Given the description of an element on the screen output the (x, y) to click on. 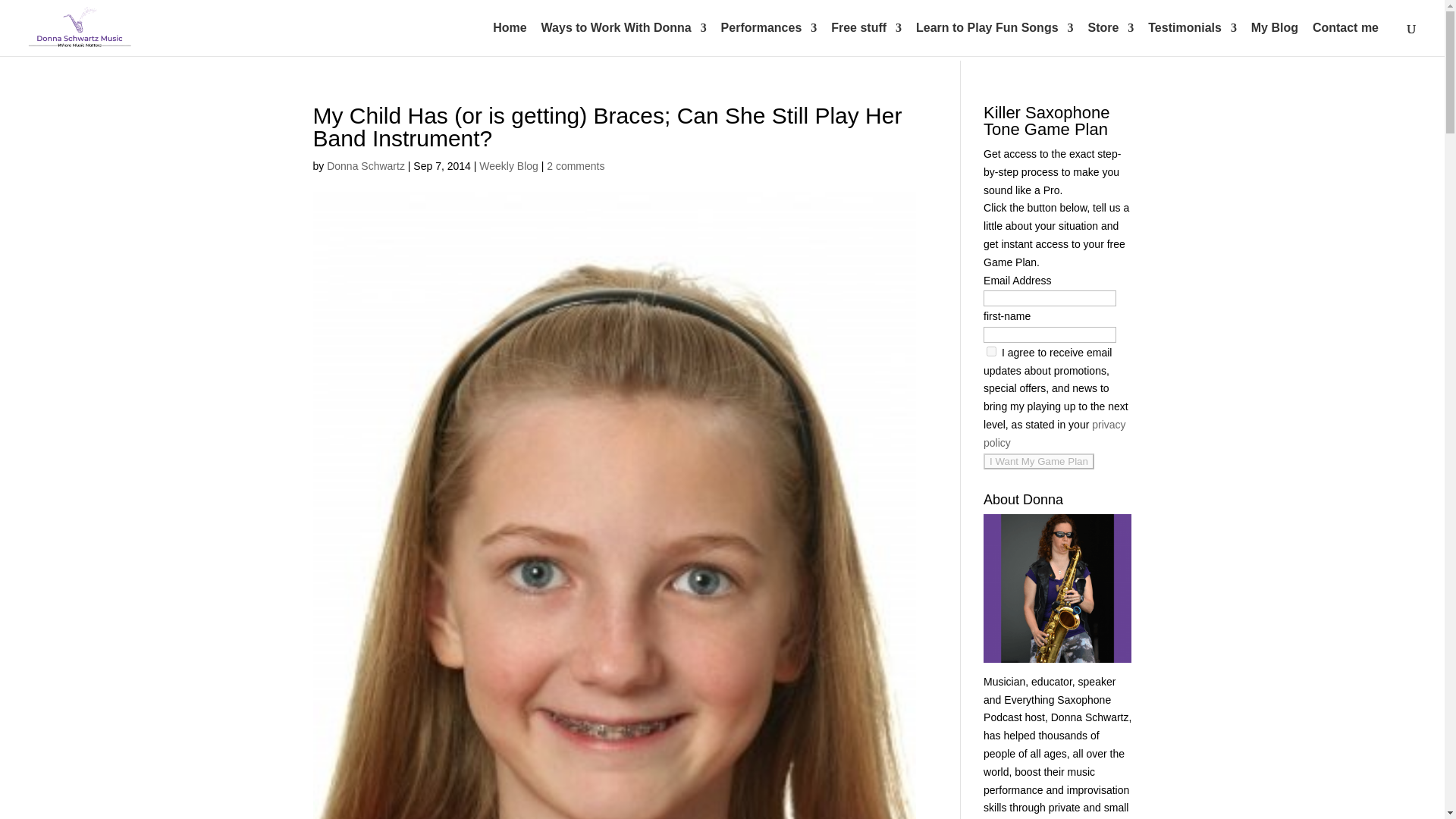
Home (509, 39)
Learn to Play Fun Songs (994, 39)
Posts by Donna Schwartz (365, 165)
Performances (768, 39)
Free stuff (866, 39)
Ways to Work With Donna (623, 39)
I Want My Game Plan (1039, 461)
granted (991, 351)
